Given the description of an element on the screen output the (x, y) to click on. 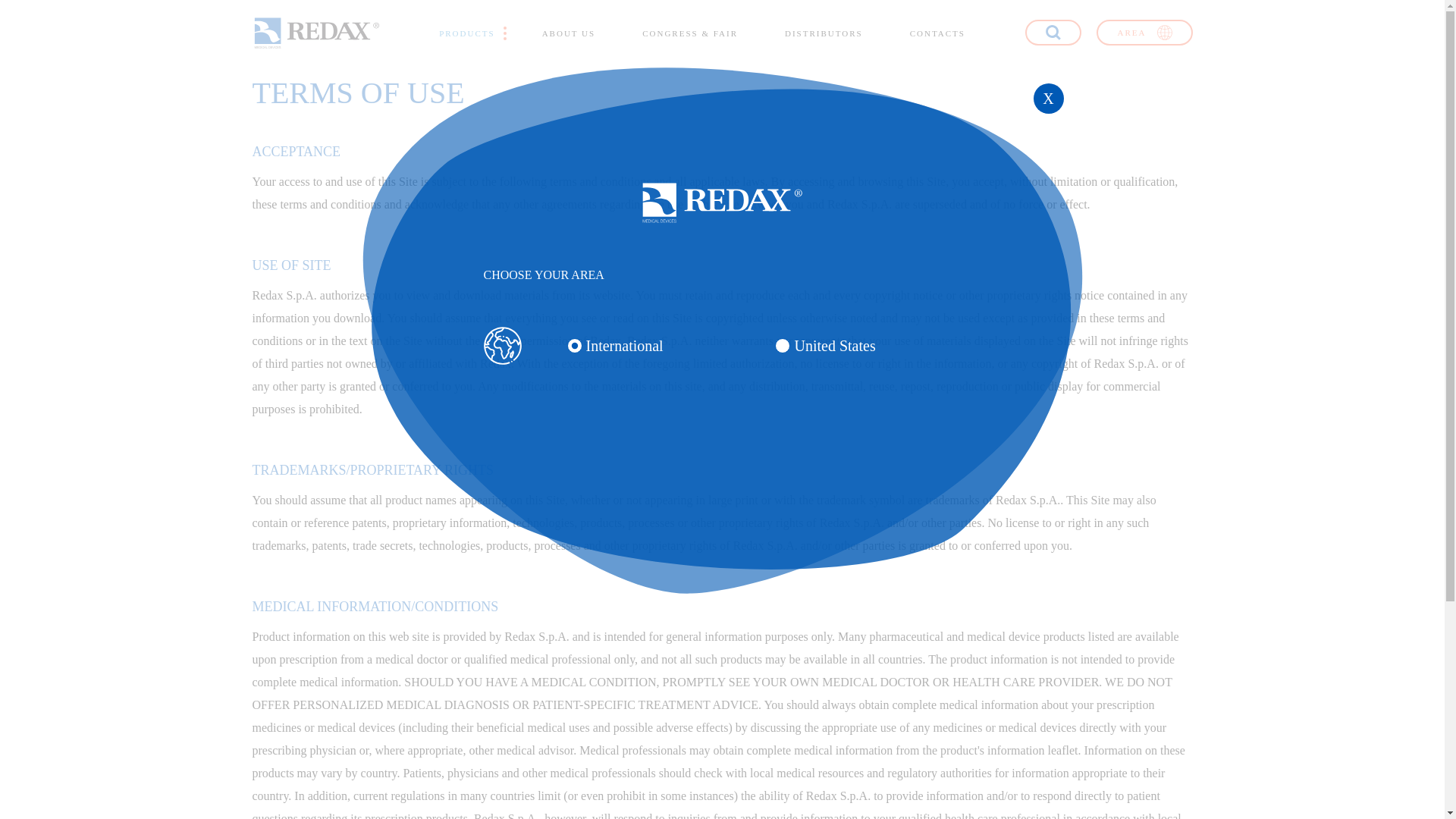
DISTRIBUTORS (823, 32)
AREA (1144, 32)
ABOUT US (568, 32)
CONTACTS (937, 32)
PRODUCTS (467, 32)
